Given the description of an element on the screen output the (x, y) to click on. 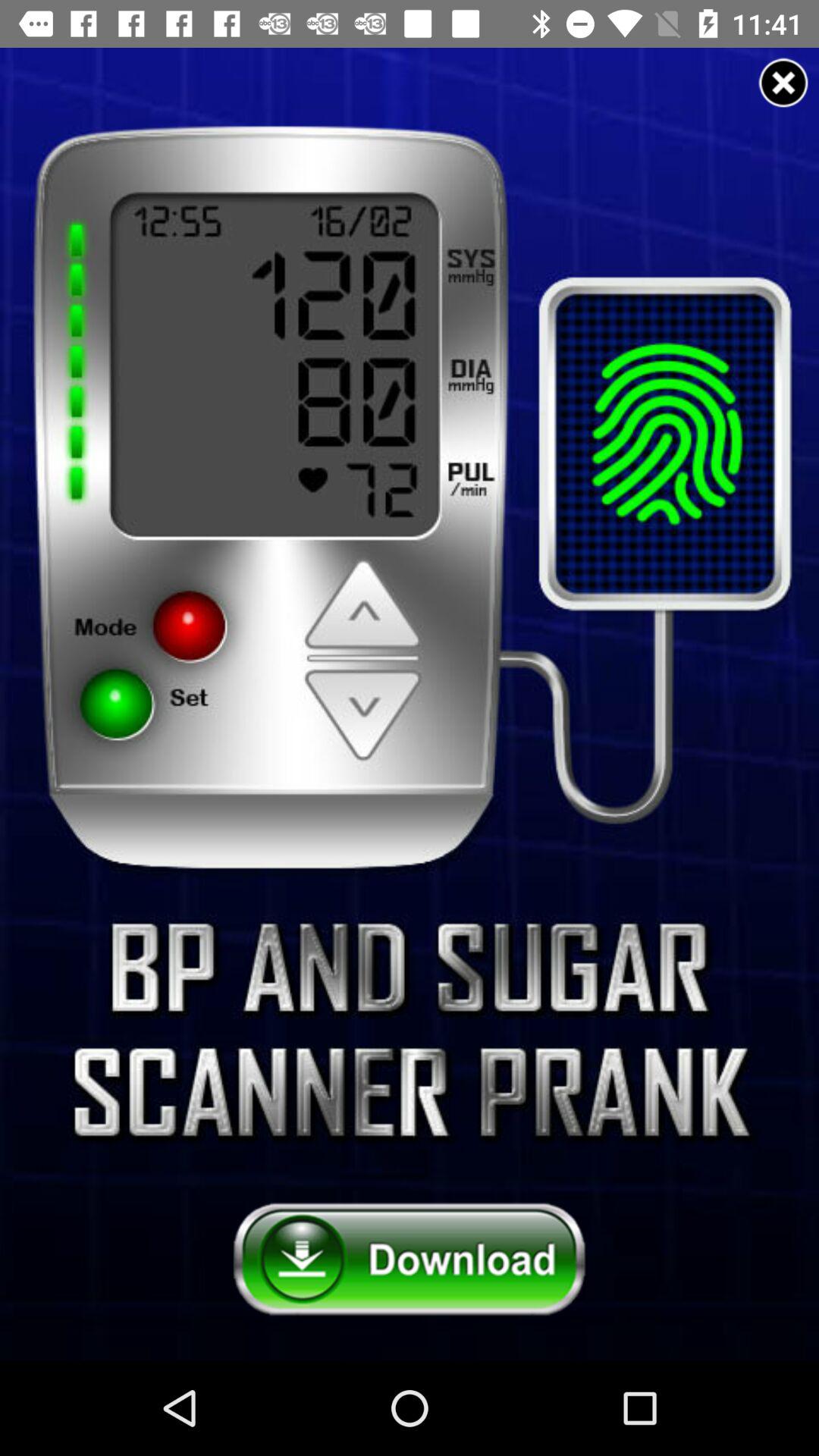
download app (409, 1260)
